Given the description of an element on the screen output the (x, y) to click on. 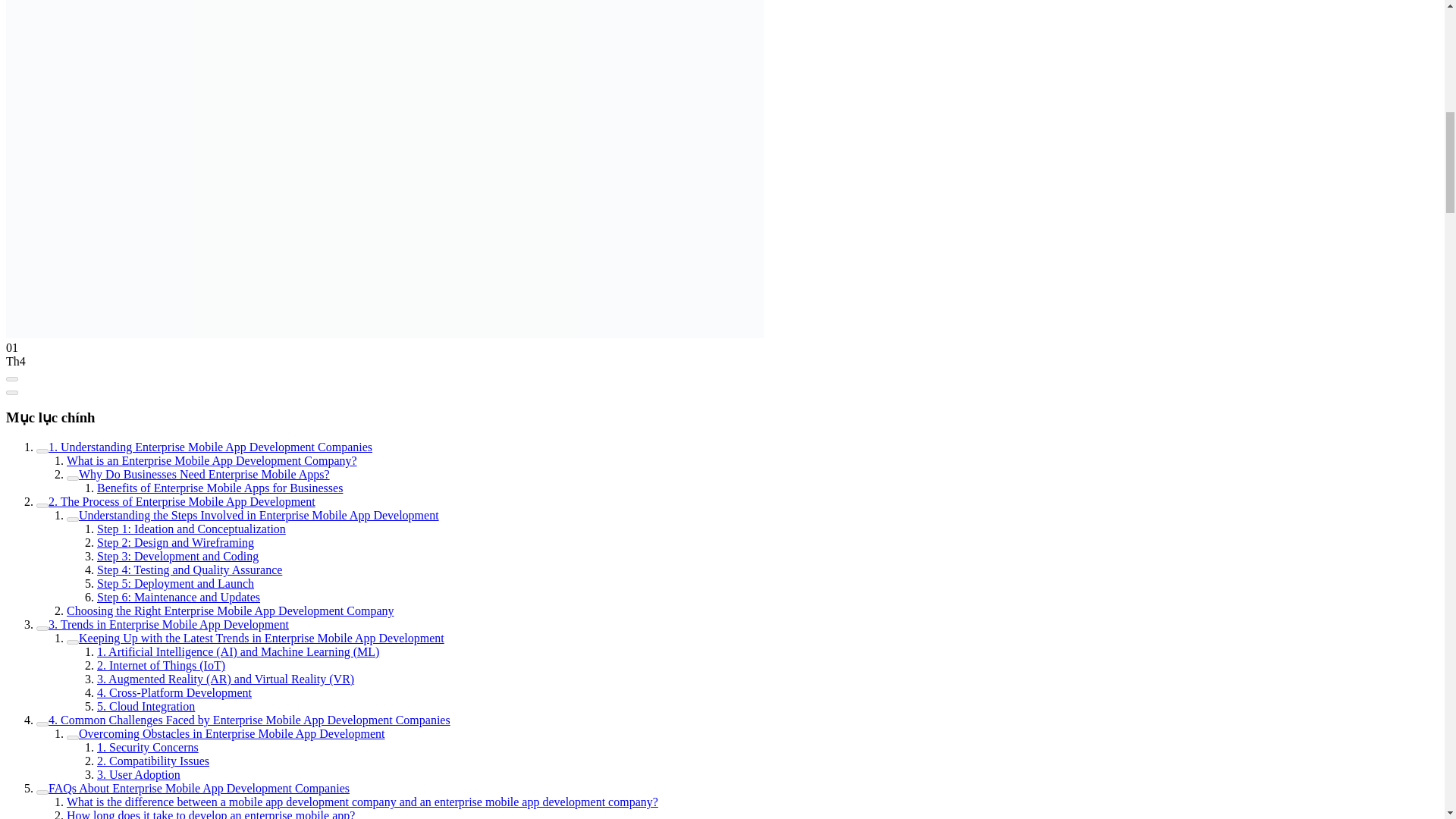
Step 2: Design and Wireframing (175, 542)
Step 1: Ideation and Conceptualization (191, 528)
Benefits of Enterprise Mobile Apps for Businesses (219, 487)
click To Maximize The Table Of Contents (11, 378)
Step 6: Maintenance and Updates (178, 596)
Step 5: Deployment and Launch (175, 583)
Step 3: Development and Coding (178, 555)
3. Trends in Enterprise Mobile App Development (168, 624)
Choosing the Right Enterprise Mobile App Development Company (230, 610)
Step 4: Testing and Quality Assurance (189, 569)
